Given the description of an element on the screen output the (x, y) to click on. 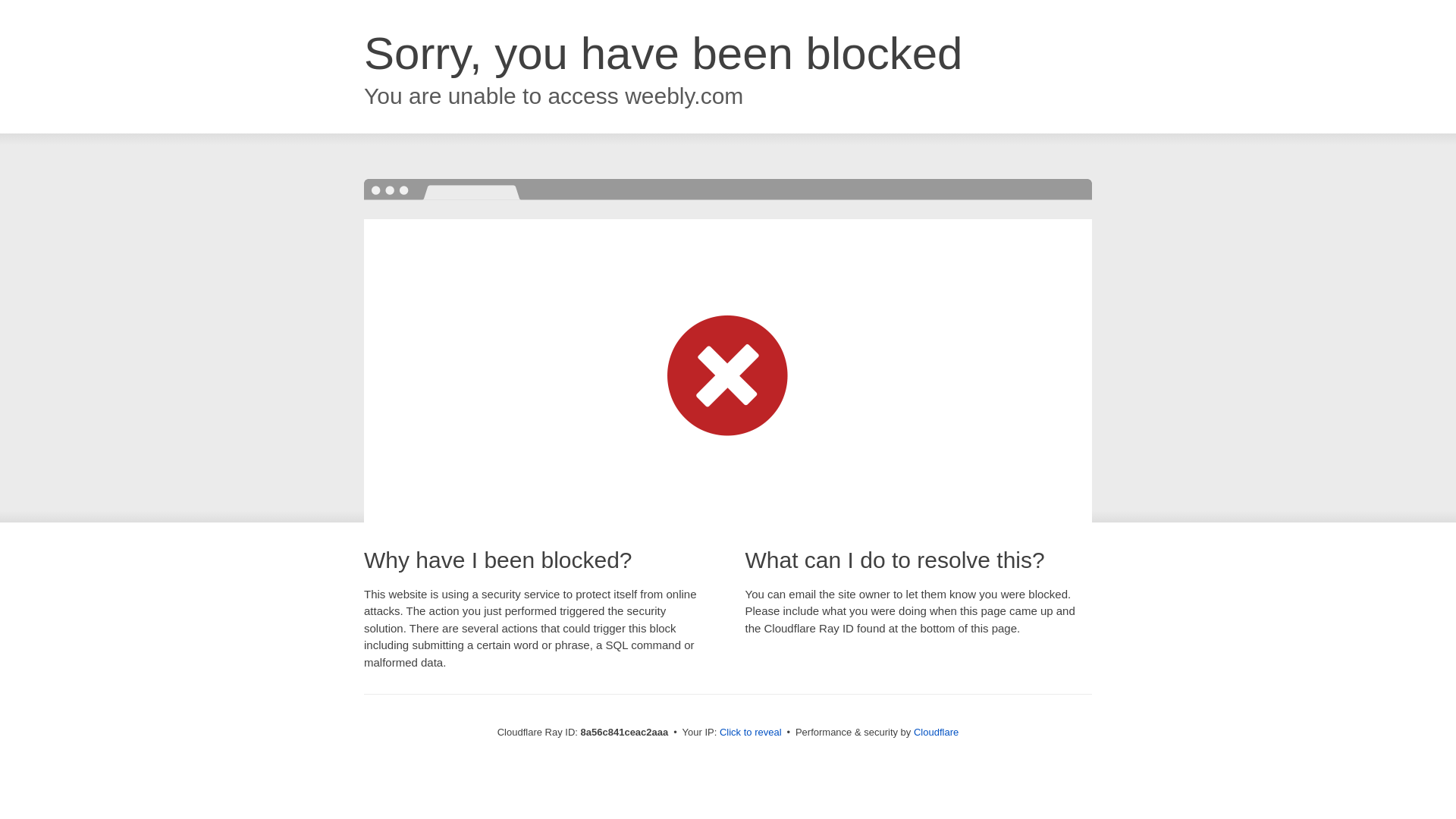
Click to reveal (750, 732)
Cloudflare (936, 731)
